Given the description of an element on the screen output the (x, y) to click on. 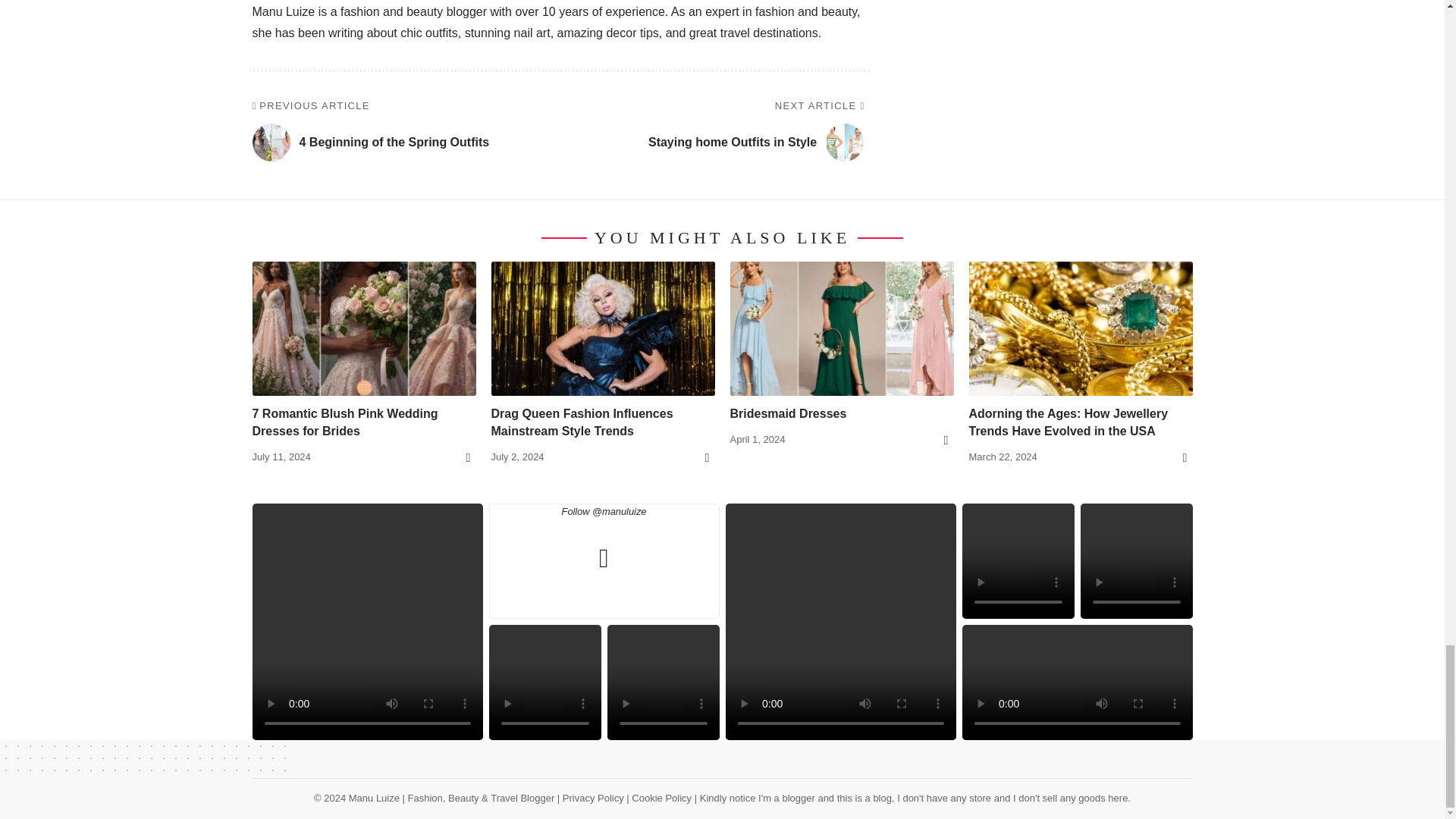
Drag Queen Fashion Influences Mainstream Style Trends (603, 328)
7 Romantic Blush Pink Wedding Dresses for Brides (363, 328)
Bridesmaid Dresses (841, 328)
